Given the description of an element on the screen output the (x, y) to click on. 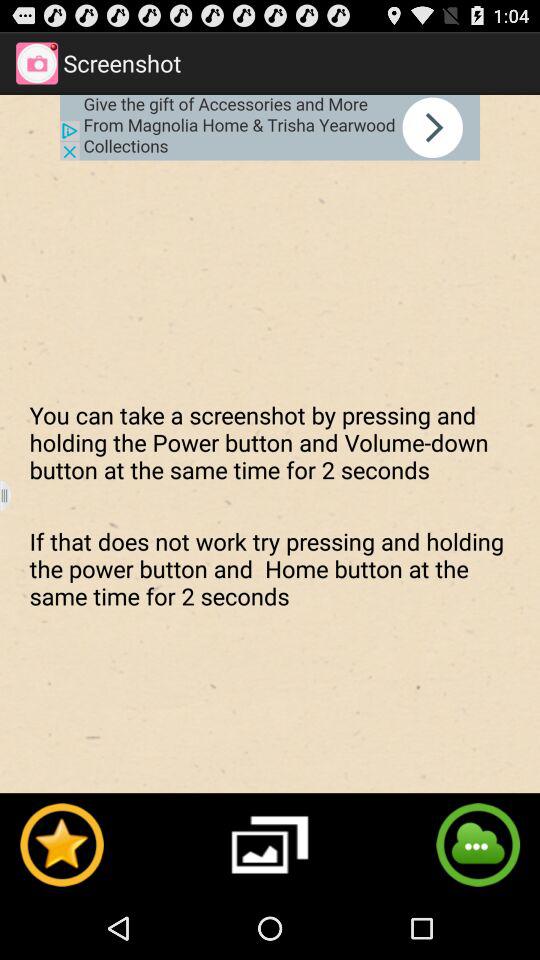
view photo option (269, 844)
